Given the description of an element on the screen output the (x, y) to click on. 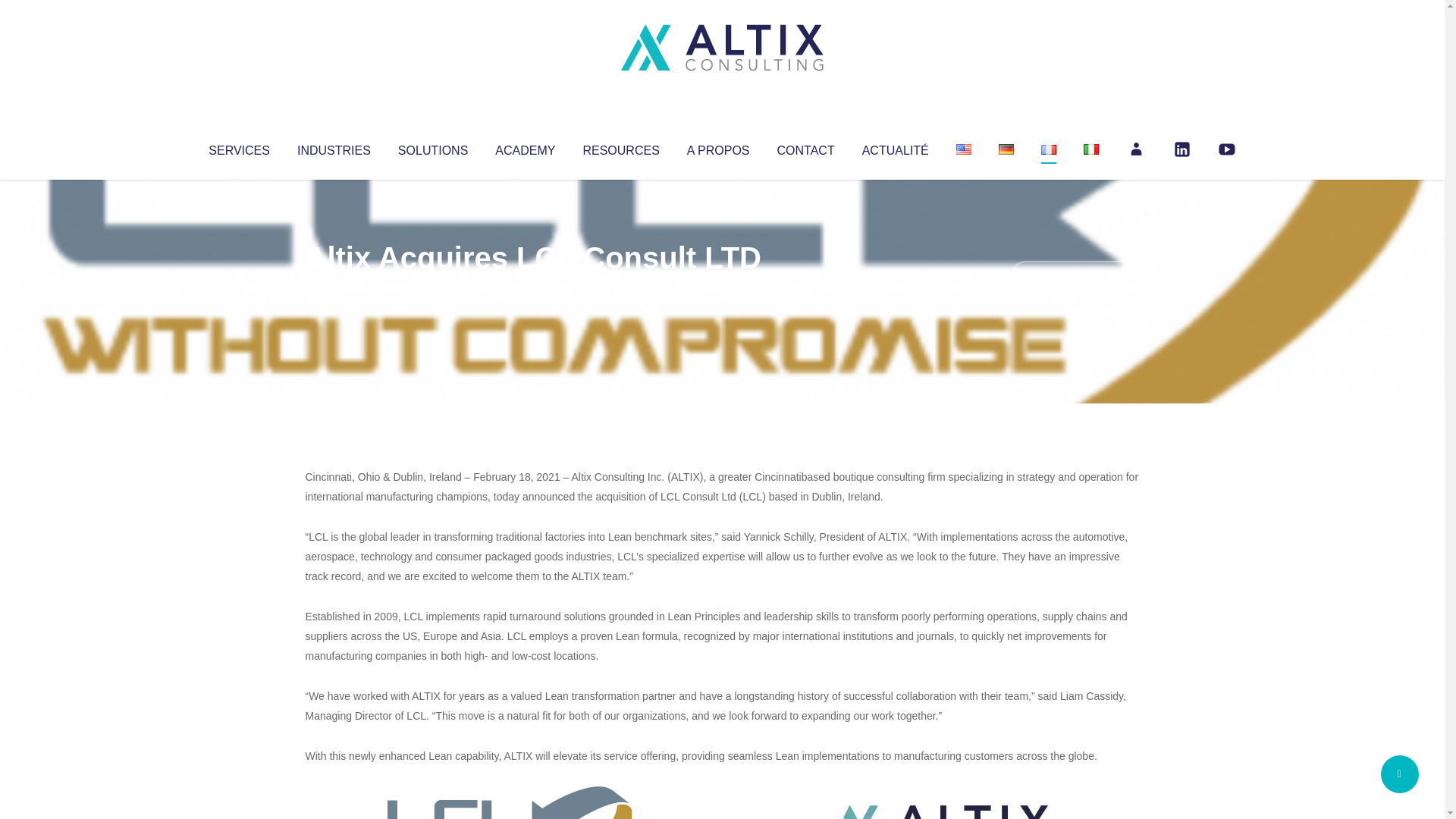
SOLUTIONS (432, 146)
ACADEMY (524, 146)
SERVICES (238, 146)
No Comments (1073, 278)
A PROPOS (718, 146)
Uncategorized (530, 287)
INDUSTRIES (334, 146)
Altix (333, 287)
RESOURCES (620, 146)
Articles par Altix (333, 287)
